Given the description of an element on the screen output the (x, y) to click on. 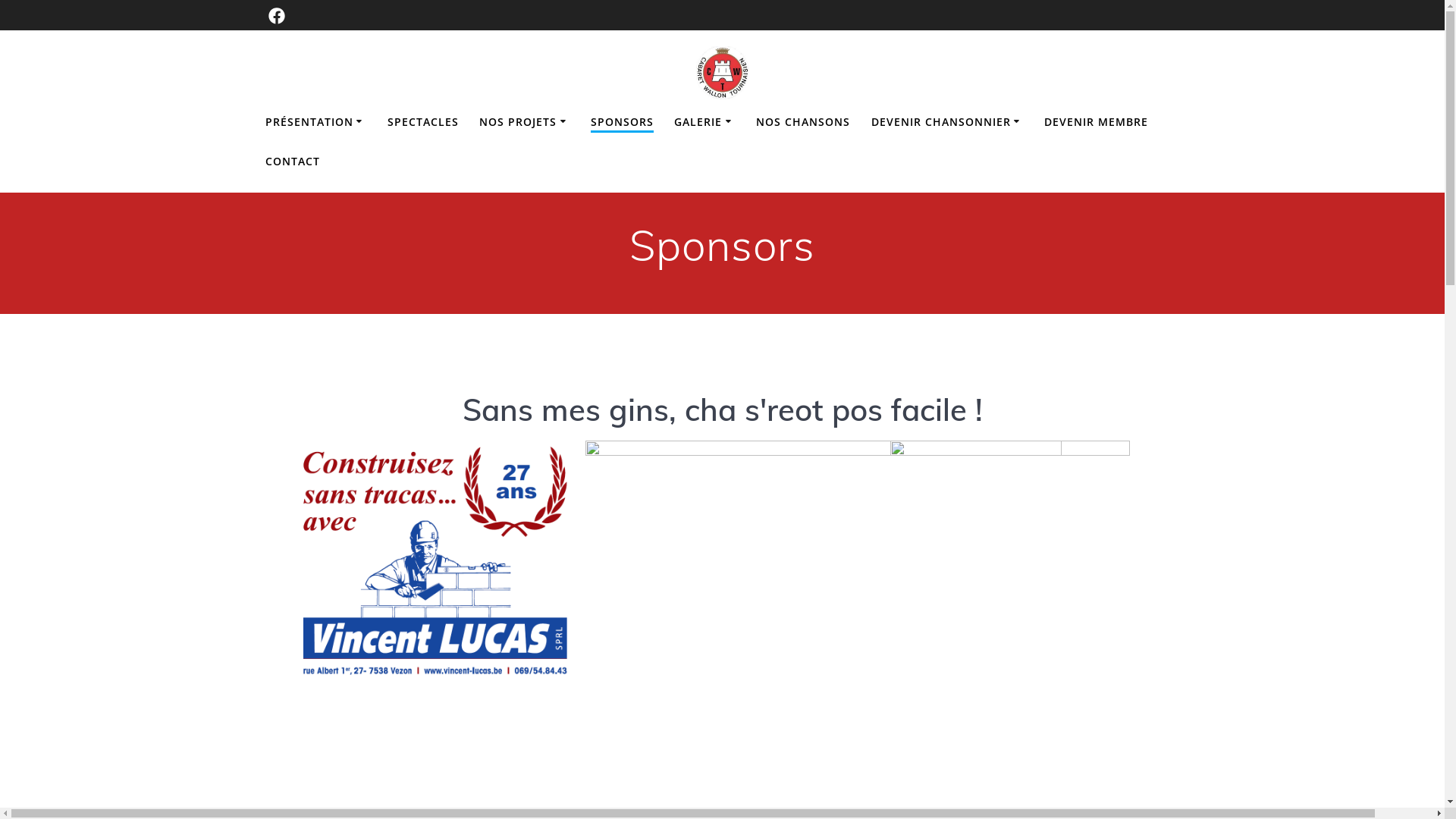
SPECTACLES Element type: text (422, 121)
CONTACT Element type: text (292, 161)
DEVENIR MEMBRE Element type: text (1096, 121)
NOS CHANSONS Element type: text (803, 121)
NOS PROJETS Element type: text (524, 121)
GALERIE Element type: text (704, 121)
SPONSORS Element type: text (621, 122)
DEVENIR CHANSONNIER Element type: text (947, 121)
